Given the description of an element on the screen output the (x, y) to click on. 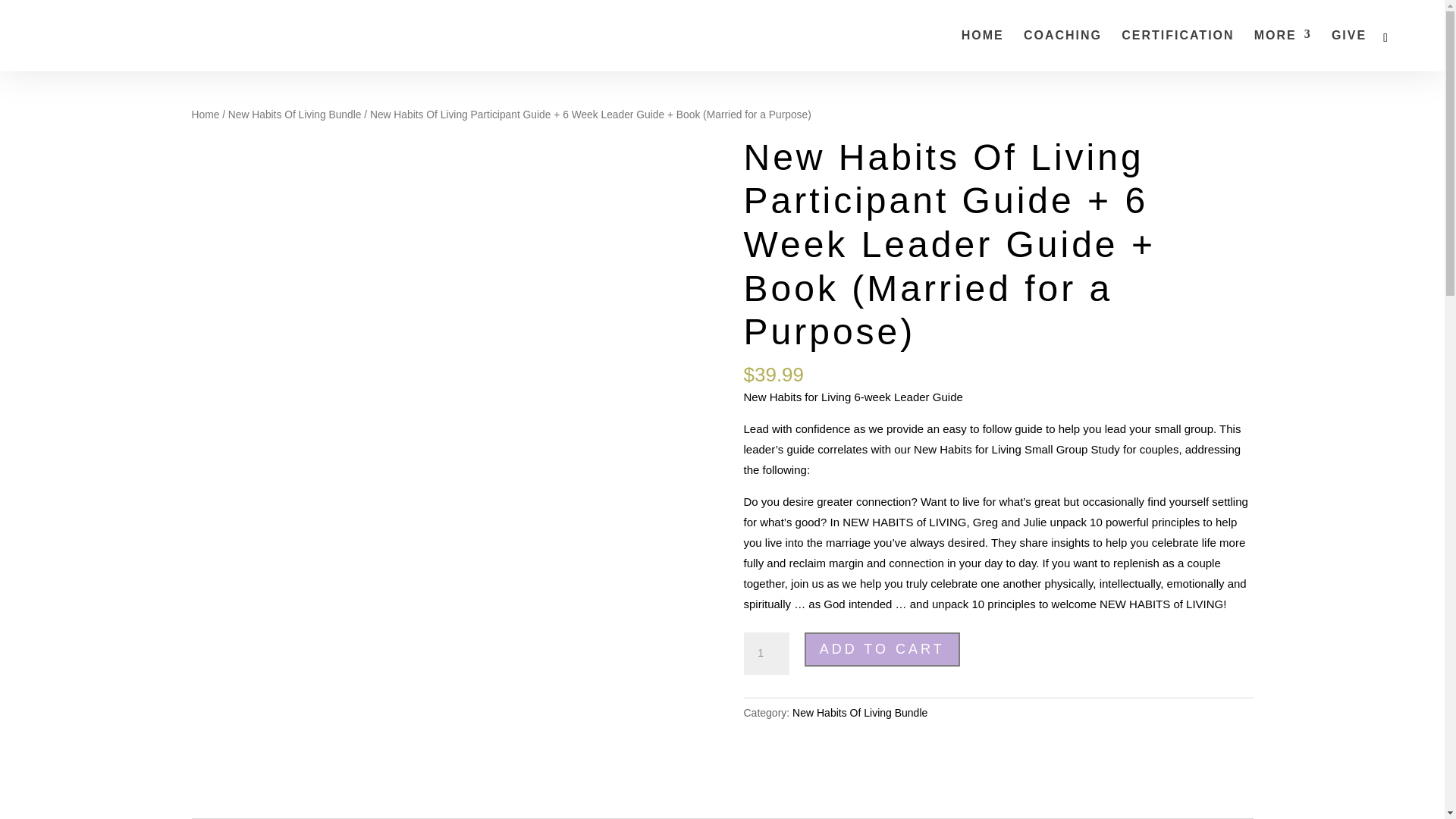
Home (204, 114)
1 (765, 653)
MORE (1282, 50)
ADD TO CART (882, 649)
New Habits Of Living Bundle (859, 712)
HOME (982, 50)
New Habits Of Living Bundle (294, 114)
CERTIFICATION (1177, 50)
COACHING (1062, 50)
